Given the description of an element on the screen output the (x, y) to click on. 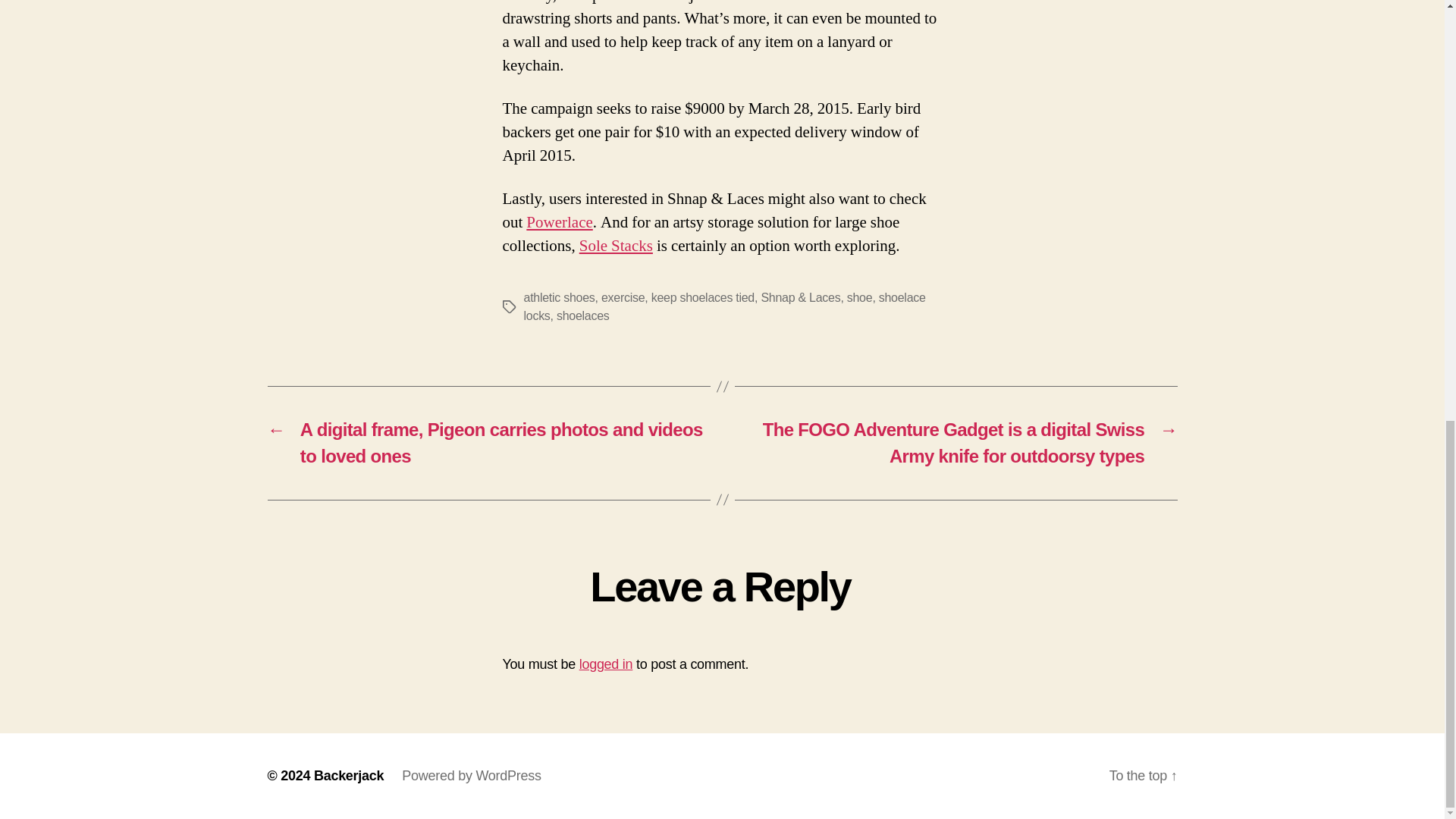
Powerlace (558, 222)
keep shoelaces tied (702, 297)
shoelaces (583, 315)
shoe (859, 297)
Backerjack (349, 775)
athletic shoes (558, 297)
Powered by WordPress (470, 775)
shoelace locks (723, 306)
logged in (606, 663)
Sole Stacks (615, 245)
